Given the description of an element on the screen output the (x, y) to click on. 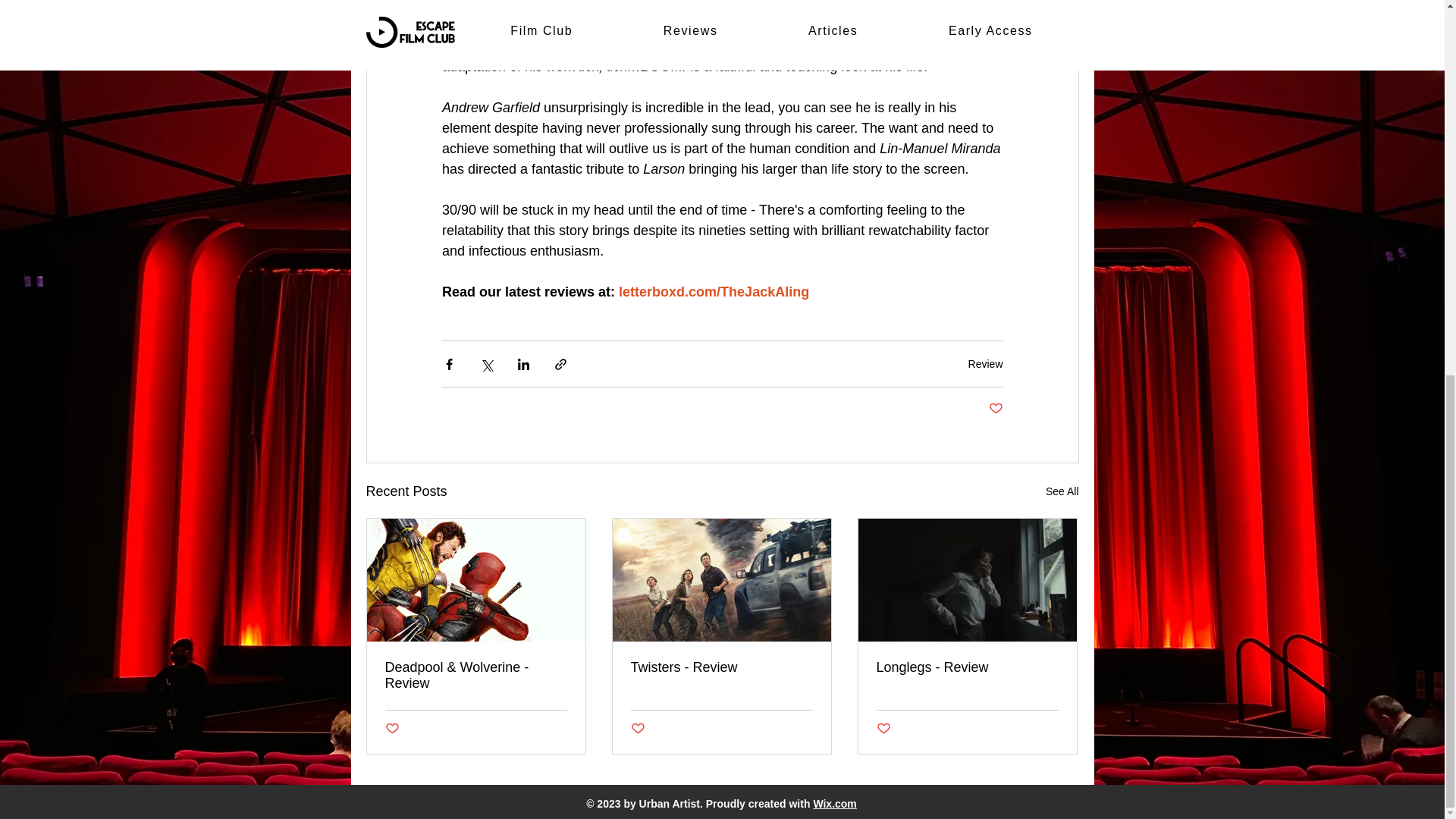
Post not marked as liked (391, 729)
Post not marked as liked (637, 729)
Longlegs - Review (967, 667)
Twisters - Review (721, 667)
See All (1061, 491)
Post not marked as liked (883, 729)
Review (985, 363)
Wix.com (834, 803)
Proudly created with (759, 803)
Post not marked as liked (995, 408)
